Given the description of an element on the screen output the (x, y) to click on. 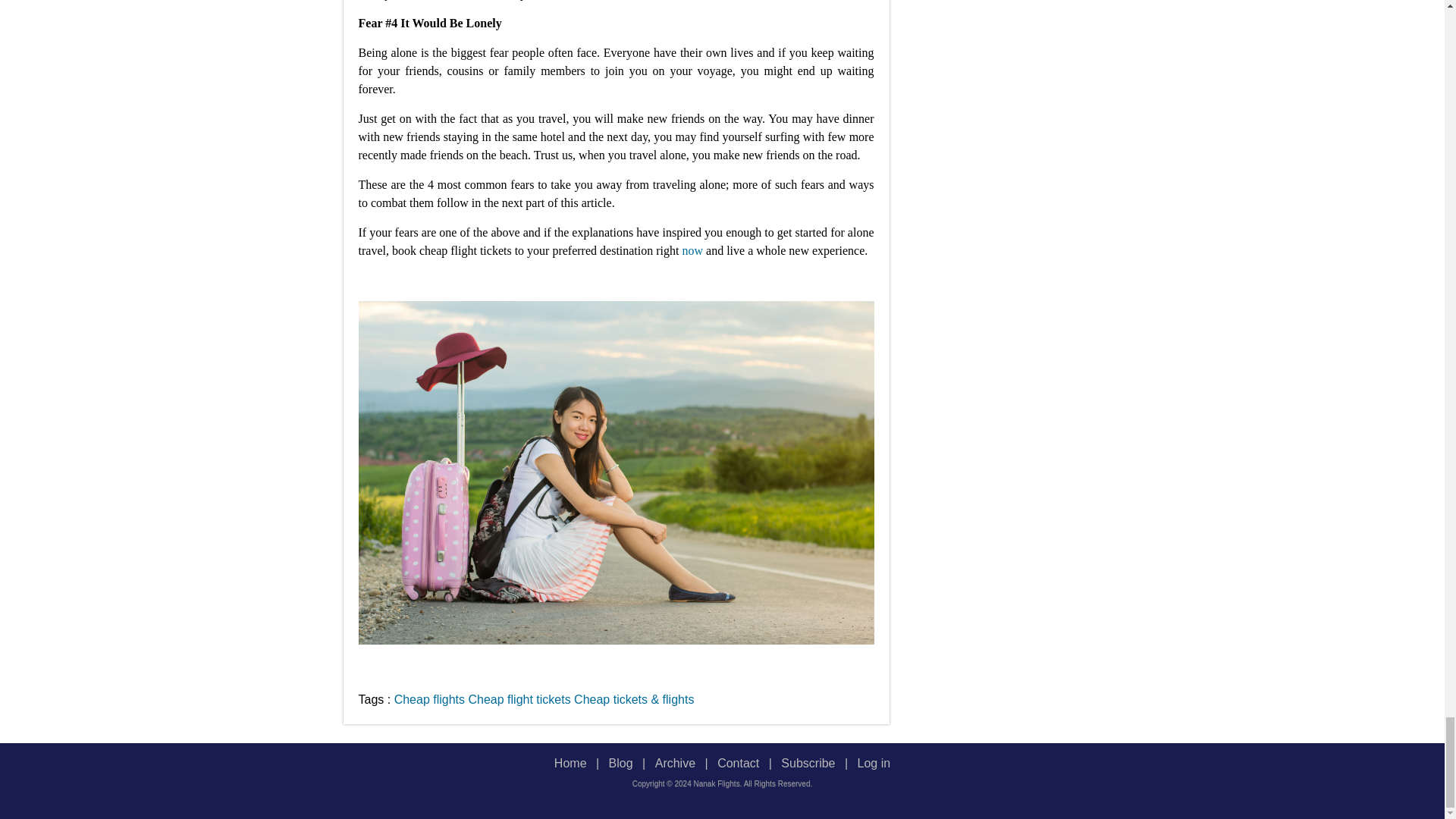
now (692, 250)
